Given the description of an element on the screen output the (x, y) to click on. 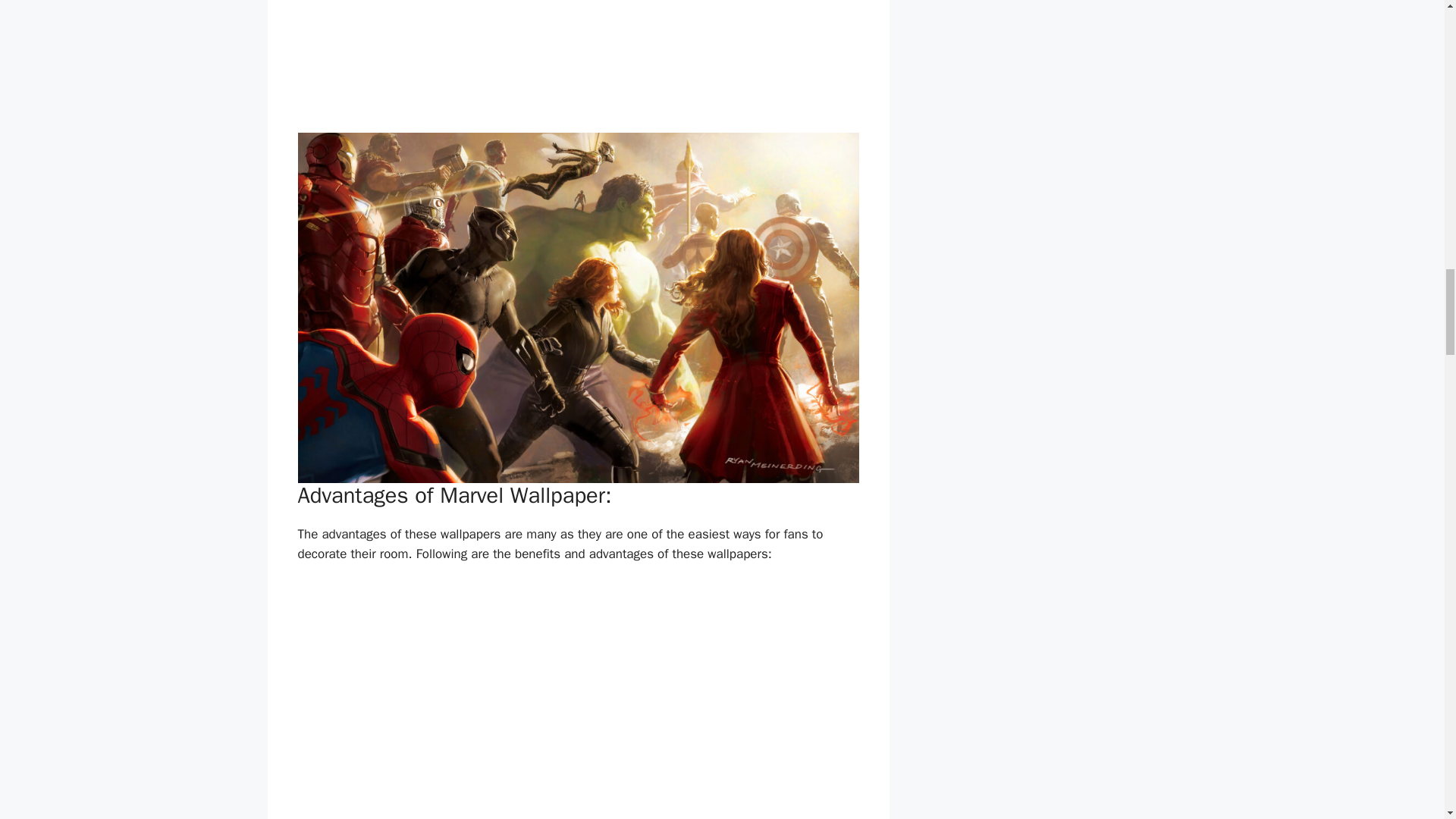
Advertisement (581, 60)
Advertisement (581, 696)
